Given the description of an element on the screen output the (x, y) to click on. 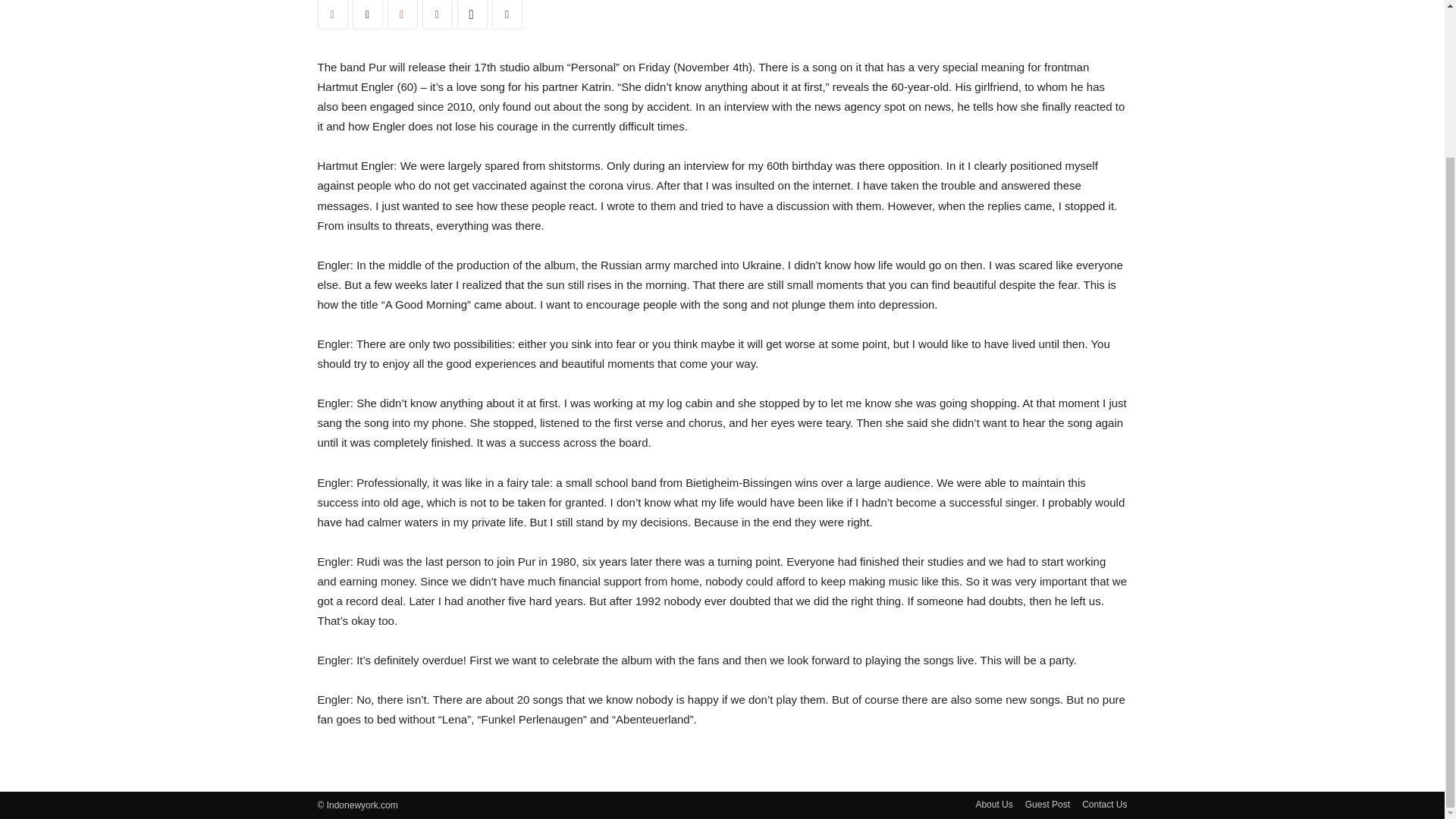
Digg (471, 14)
Facebook (332, 14)
About Us (993, 804)
Guest Post (1047, 804)
Tumblr (436, 14)
Contact Us (1103, 804)
Print (506, 14)
Twitter (366, 14)
Mix (401, 14)
